Given the description of an element on the screen output the (x, y) to click on. 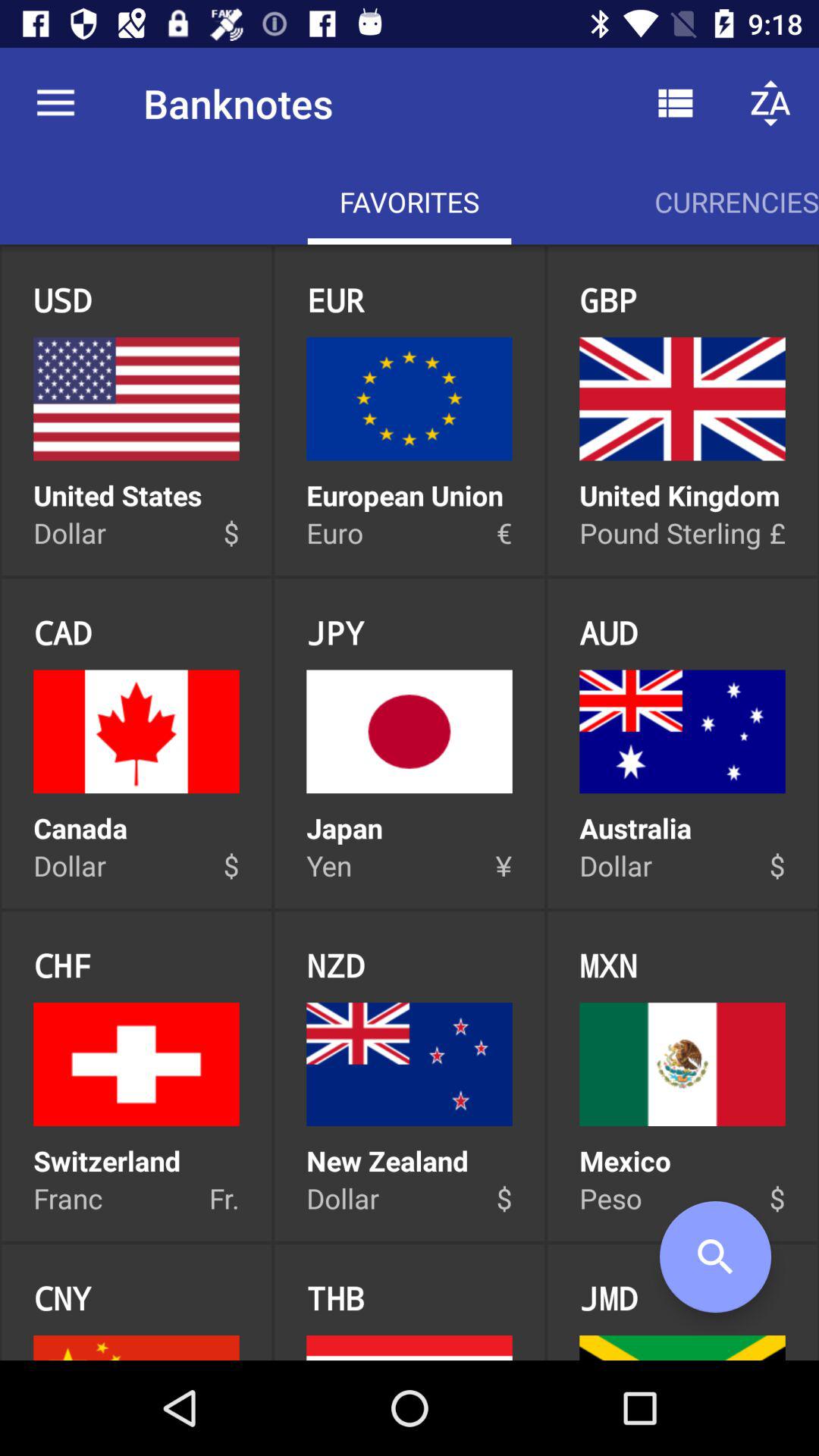
launch item to the right of the jmd icon (715, 1256)
